Given the description of an element on the screen output the (x, y) to click on. 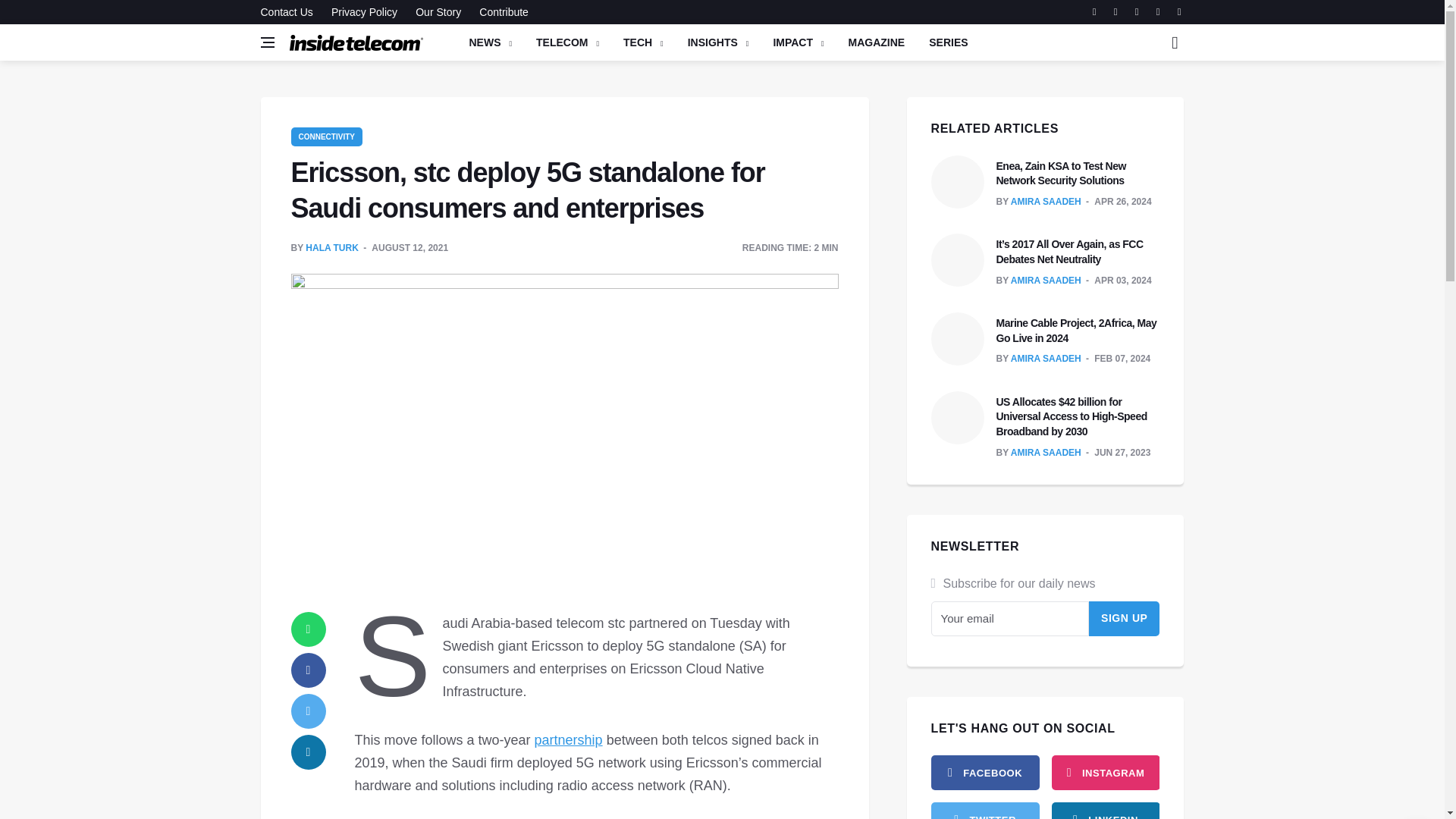
linkedin (308, 751)
whatsapp (308, 629)
instagram (1104, 772)
Our Story (437, 12)
twitter (985, 810)
Sign Up (1124, 618)
facebook (985, 772)
Contact Us (290, 12)
rss (1104, 810)
Privacy Policy (363, 12)
